Given the description of an element on the screen output the (x, y) to click on. 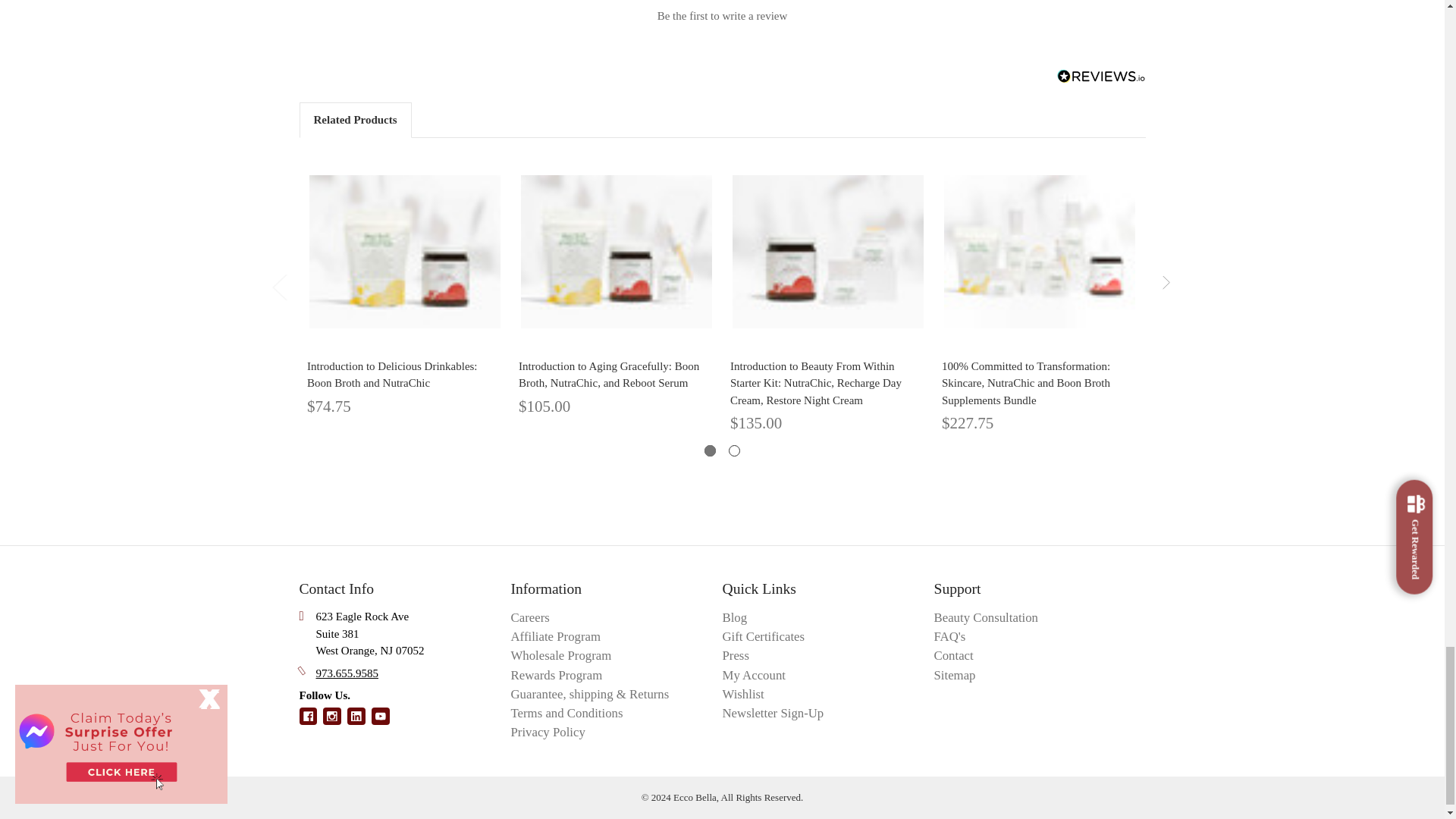
instagram (331, 716)
youtube (380, 716)
facebook (308, 716)
linkedin (355, 716)
